Given the description of an element on the screen output the (x, y) to click on. 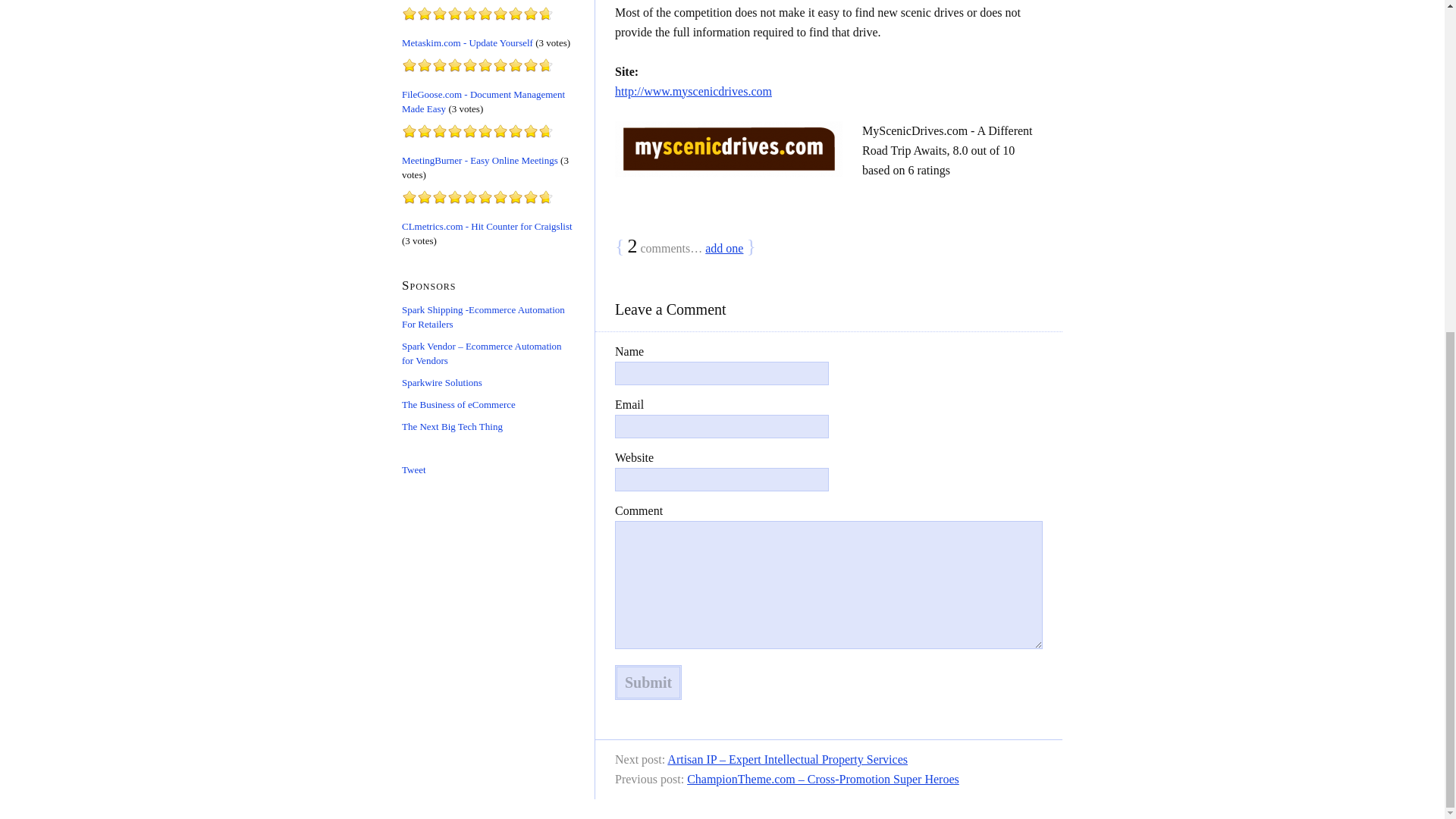
Submit (647, 682)
Metaskim.com - Update Yourself (466, 42)
The Next Big Tech Thing (451, 426)
Tweet (413, 469)
Sparkwire Solutions (441, 382)
add one (723, 247)
The Business of eCommerce (458, 403)
FileGoose.com - Document Management Made Easy (482, 101)
MeetingBurner - Easy Online Meetings (479, 159)
